Given the description of an element on the screen output the (x, y) to click on. 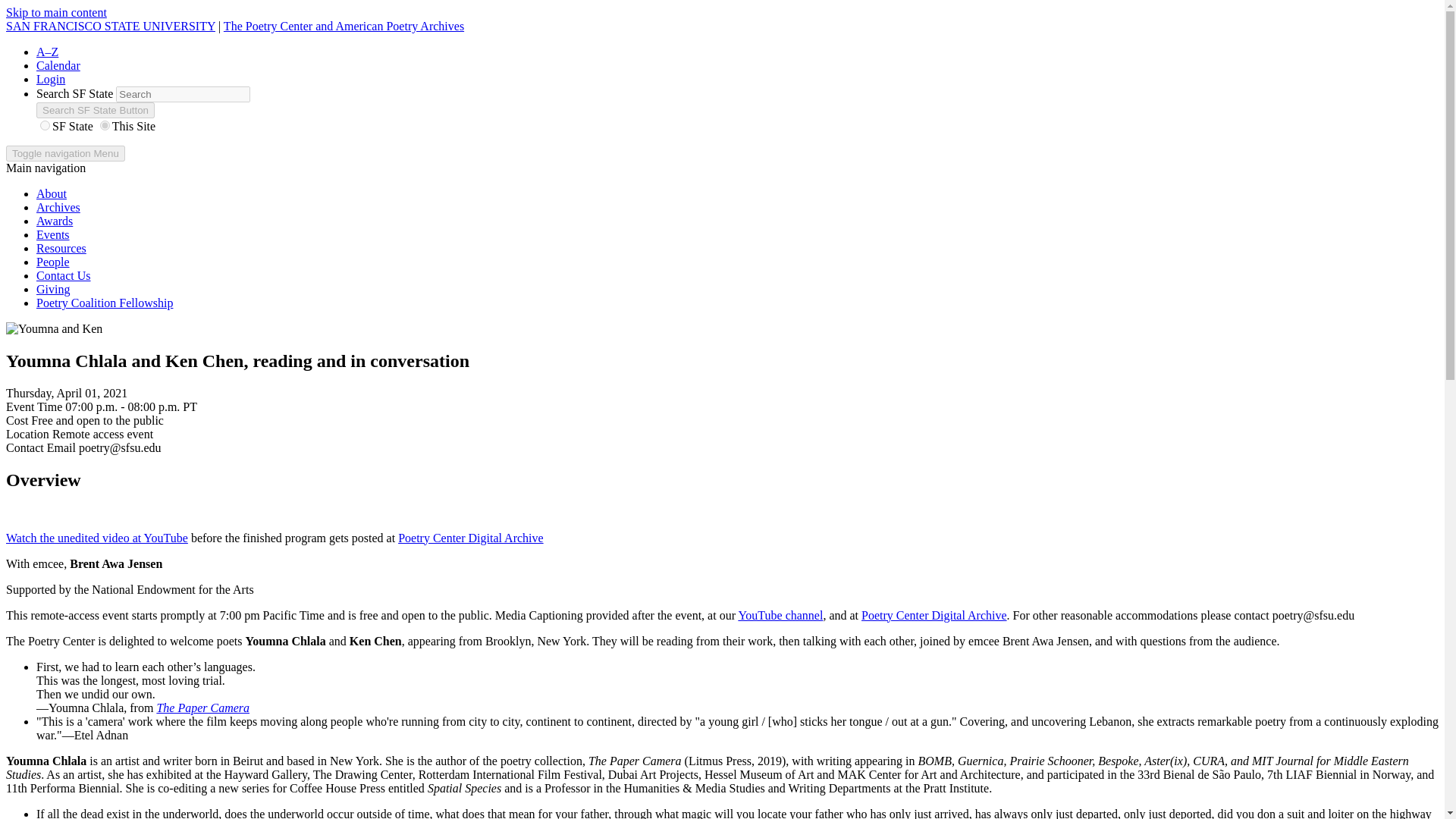
People (52, 261)
Poetry Center Digital Archive (934, 615)
Search SF State Button (95, 109)
Contact Us (63, 275)
Awards (54, 220)
Resources (60, 247)
YouTube channel (780, 615)
Toggle navigation Menu (65, 153)
Archives (58, 206)
Poetry Coalition Fellowship (104, 302)
